Given the description of an element on the screen output the (x, y) to click on. 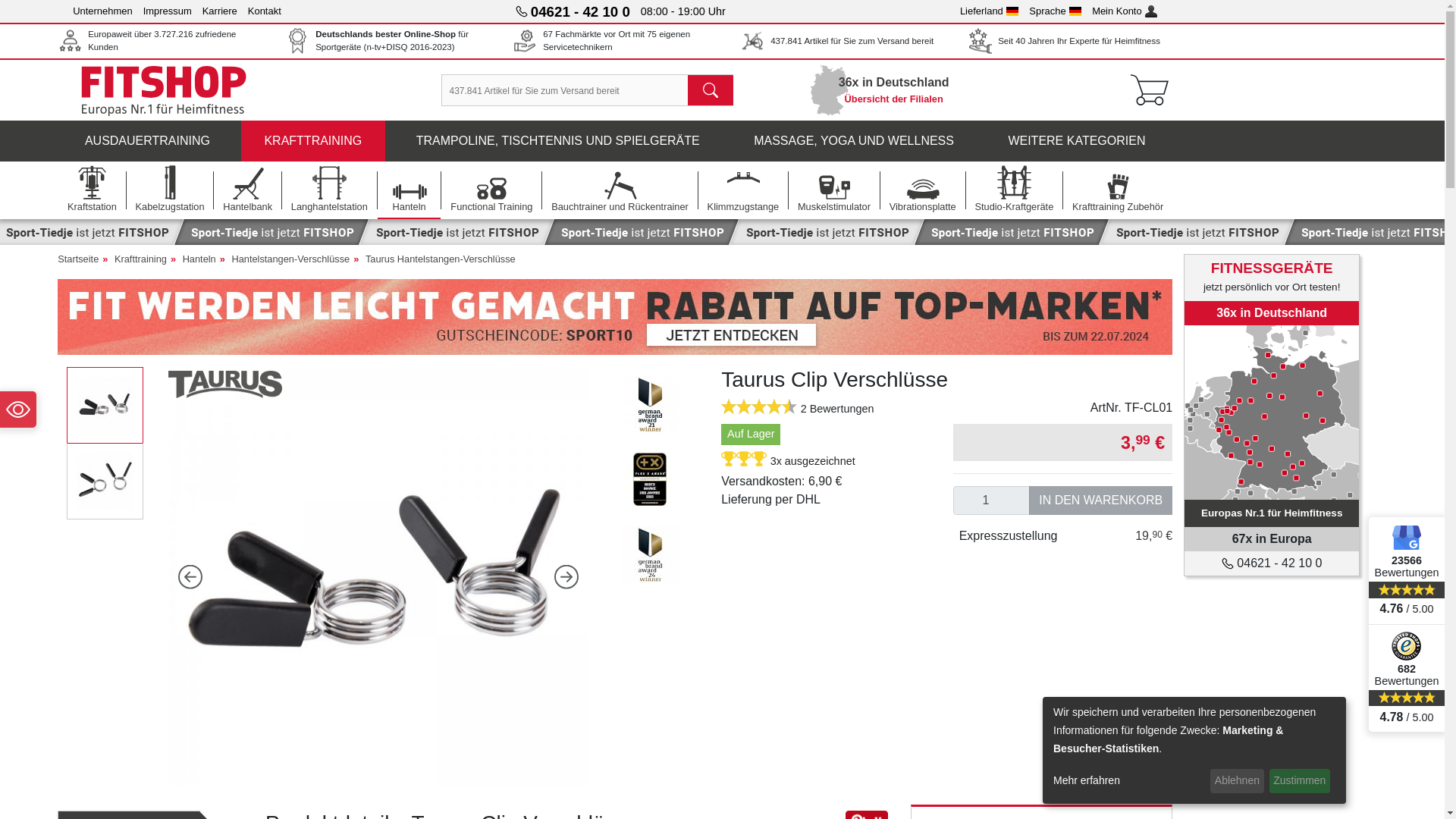
Warenkorb (1150, 89)
Weitere Kategorien (1077, 140)
1 (991, 500)
WEITERE KATEGORIEN (1077, 140)
Krafttraining (313, 140)
Suchen (710, 90)
Kontakt (264, 10)
Sprache (1055, 10)
AUSDAUERTRAINING (146, 140)
Impressum (167, 10)
Lieferland (988, 10)
Mein Konto (1124, 10)
Mein Konto (1124, 10)
Massage, Yoga und Wellness (853, 140)
Unternehmen (102, 10)
